Given the description of an element on the screen output the (x, y) to click on. 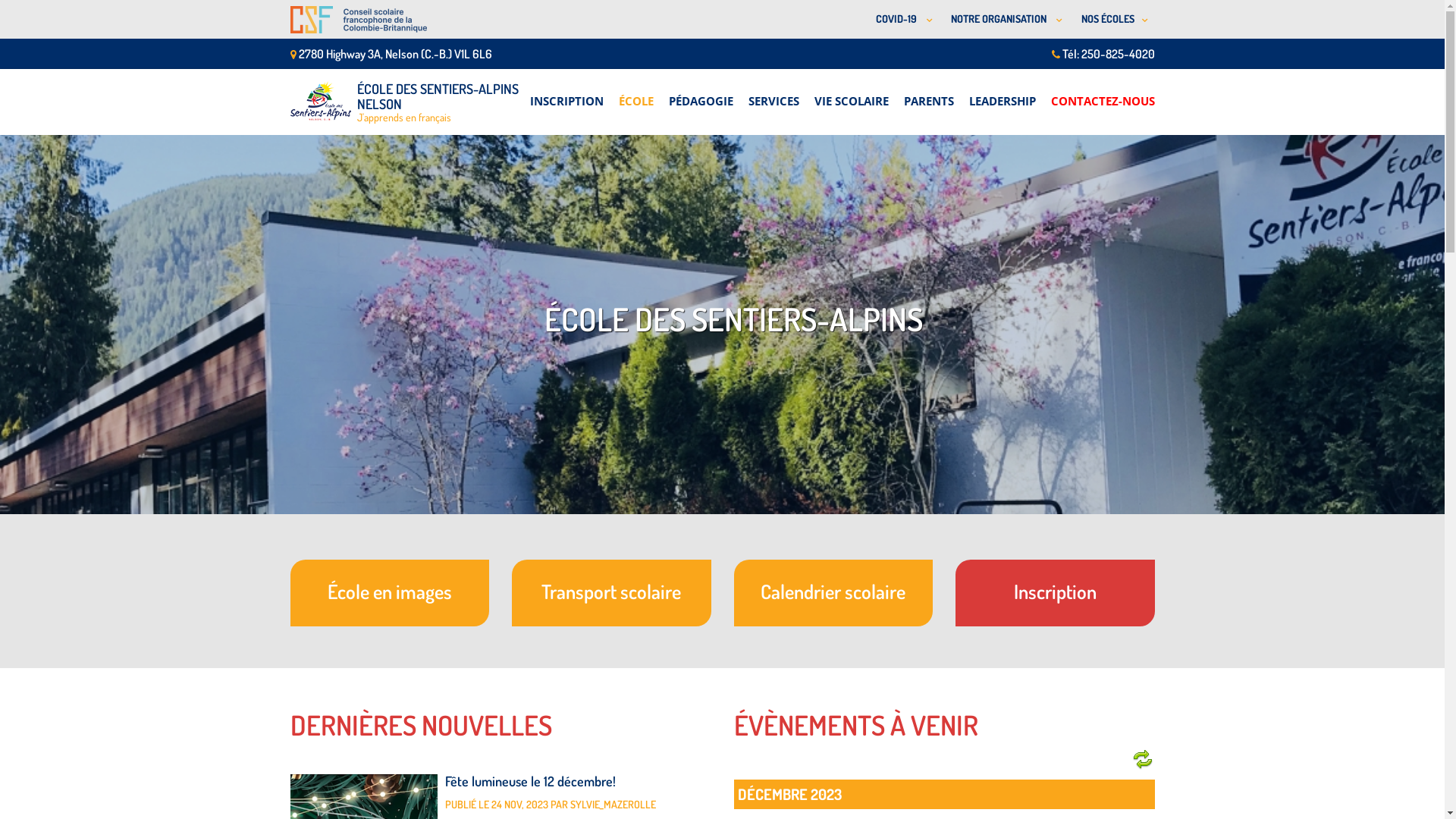
CONTACTEZ-NOUS Element type: text (1102, 92)
Refresh calendars Remote file had no modifications.  Element type: hover (1141, 759)
NOTRE ORGANISATION  Element type: text (1004, 19)
SYLVIE_MAZEROLLE Element type: text (612, 803)
LEADERSHIP Element type: text (1002, 92)
VIE SCOLAIRE Element type: text (851, 92)
COVID-19  Element type: text (900, 19)
Transport scolaire Element type: text (611, 592)
Calendrier scolaire Element type: text (833, 592)
PARENTS Element type: text (928, 92)
Inscription Element type: text (1054, 592)
INSCRIPTION Element type: text (565, 92)
SERVICES Element type: text (772, 92)
